Given the description of an element on the screen output the (x, y) to click on. 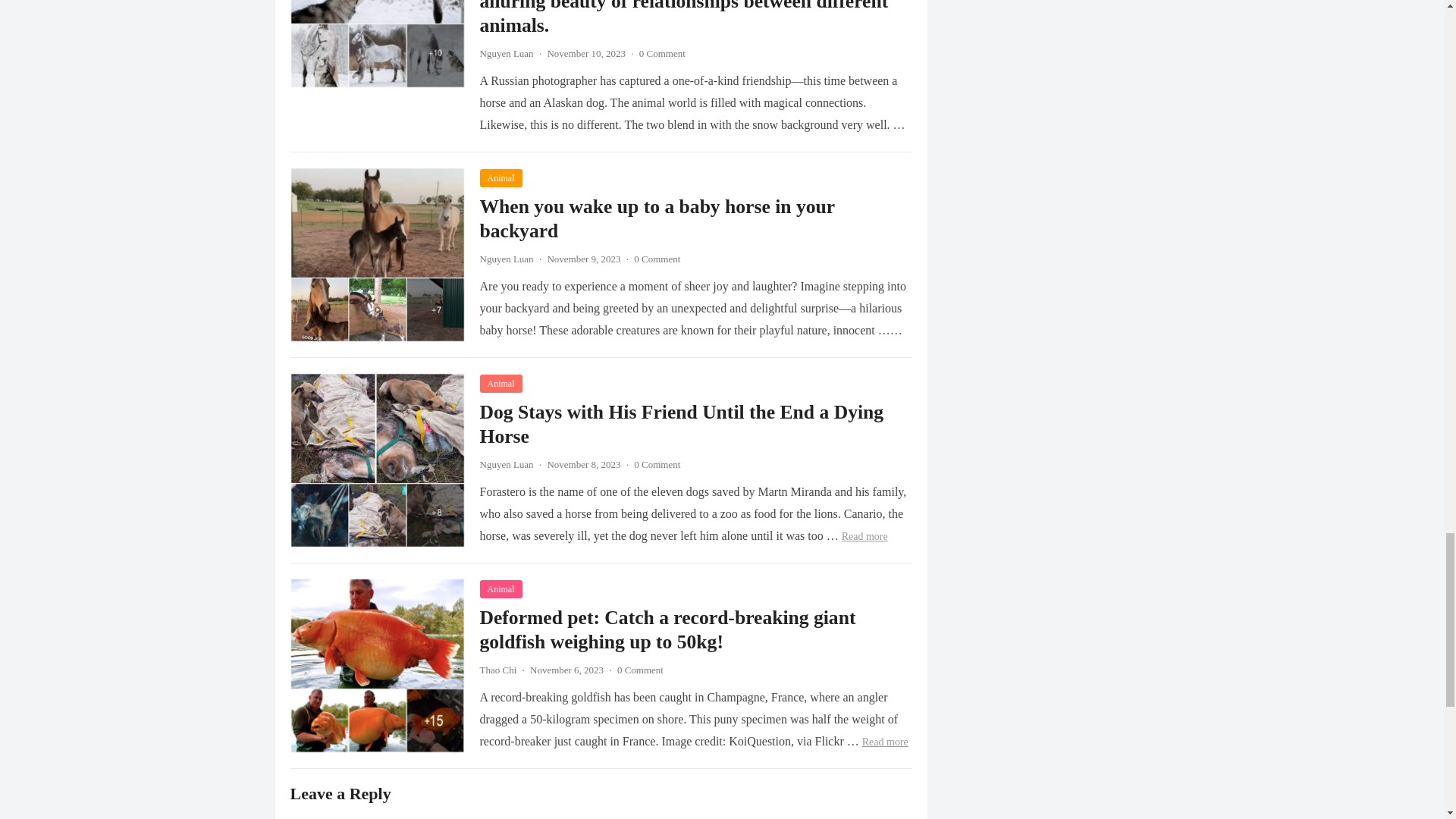
Posts by Nguyen Luan (505, 464)
Posts by Nguyen Luan (505, 258)
Nguyen Luan (505, 52)
Posts by Thao Chi (497, 669)
Posts by Nguyen Luan (505, 52)
0 Comment (662, 52)
